Given the description of an element on the screen output the (x, y) to click on. 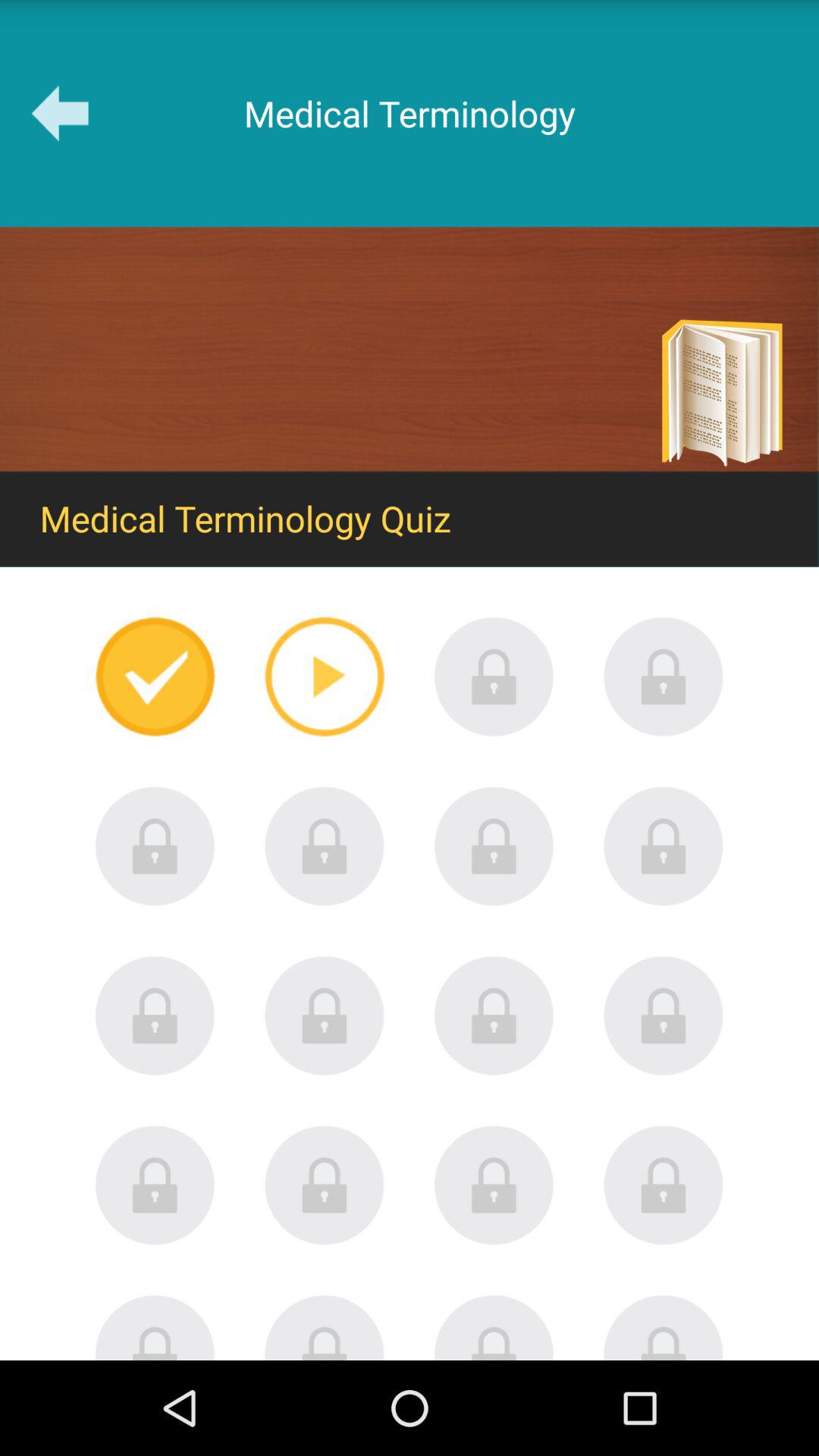
unlock quiz (324, 846)
